Given the description of an element on the screen output the (x, y) to click on. 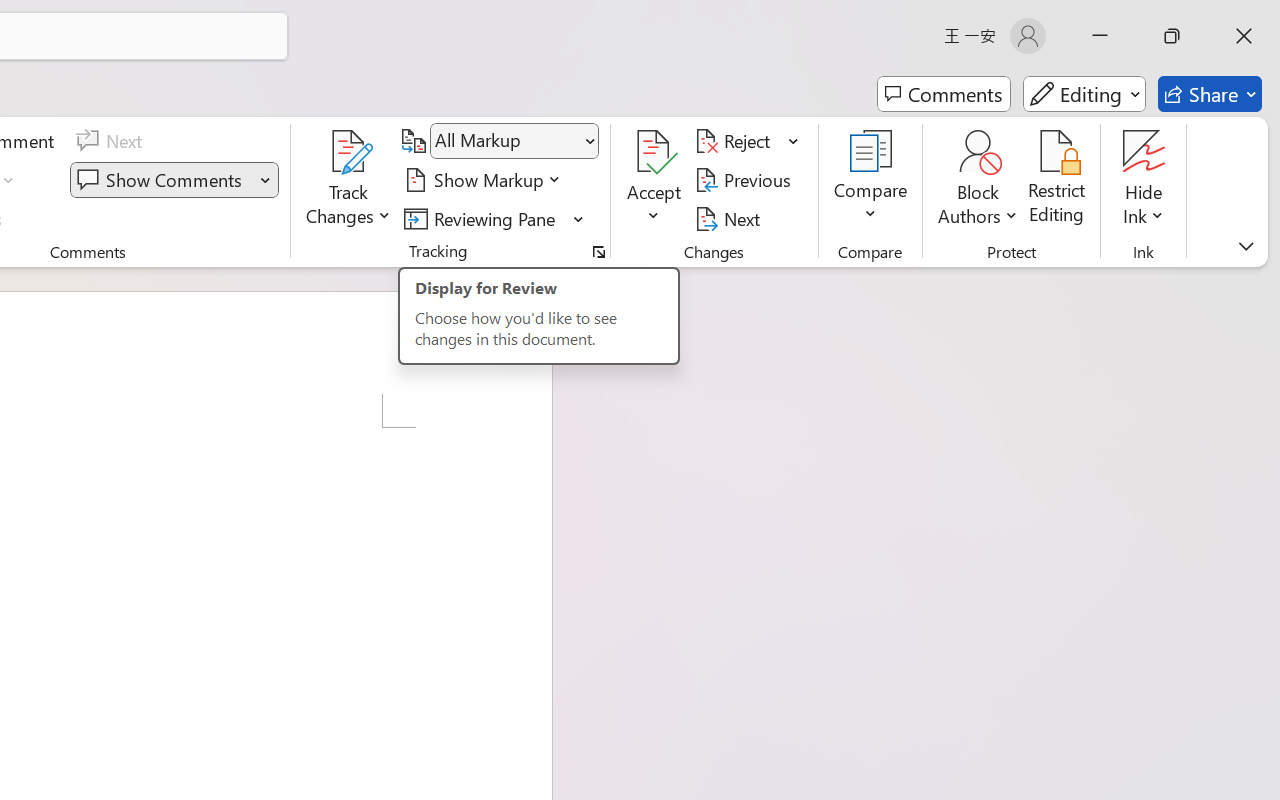
Reviewing Pane (494, 218)
Previous (745, 179)
